Given the description of an element on the screen output the (x, y) to click on. 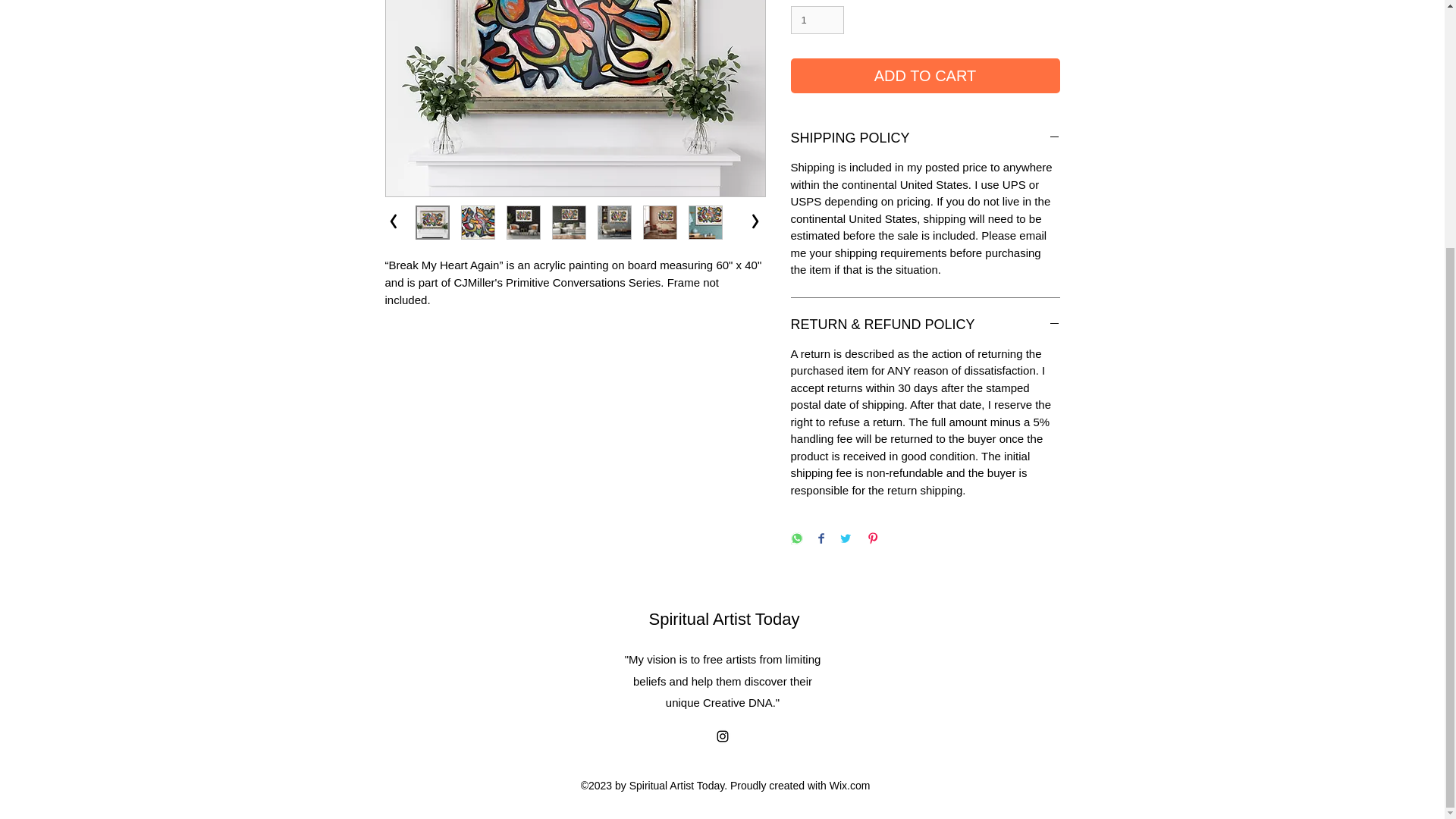
1 (817, 20)
SHIPPING POLICY (924, 137)
ADD TO CART (924, 75)
